Given the description of an element on the screen output the (x, y) to click on. 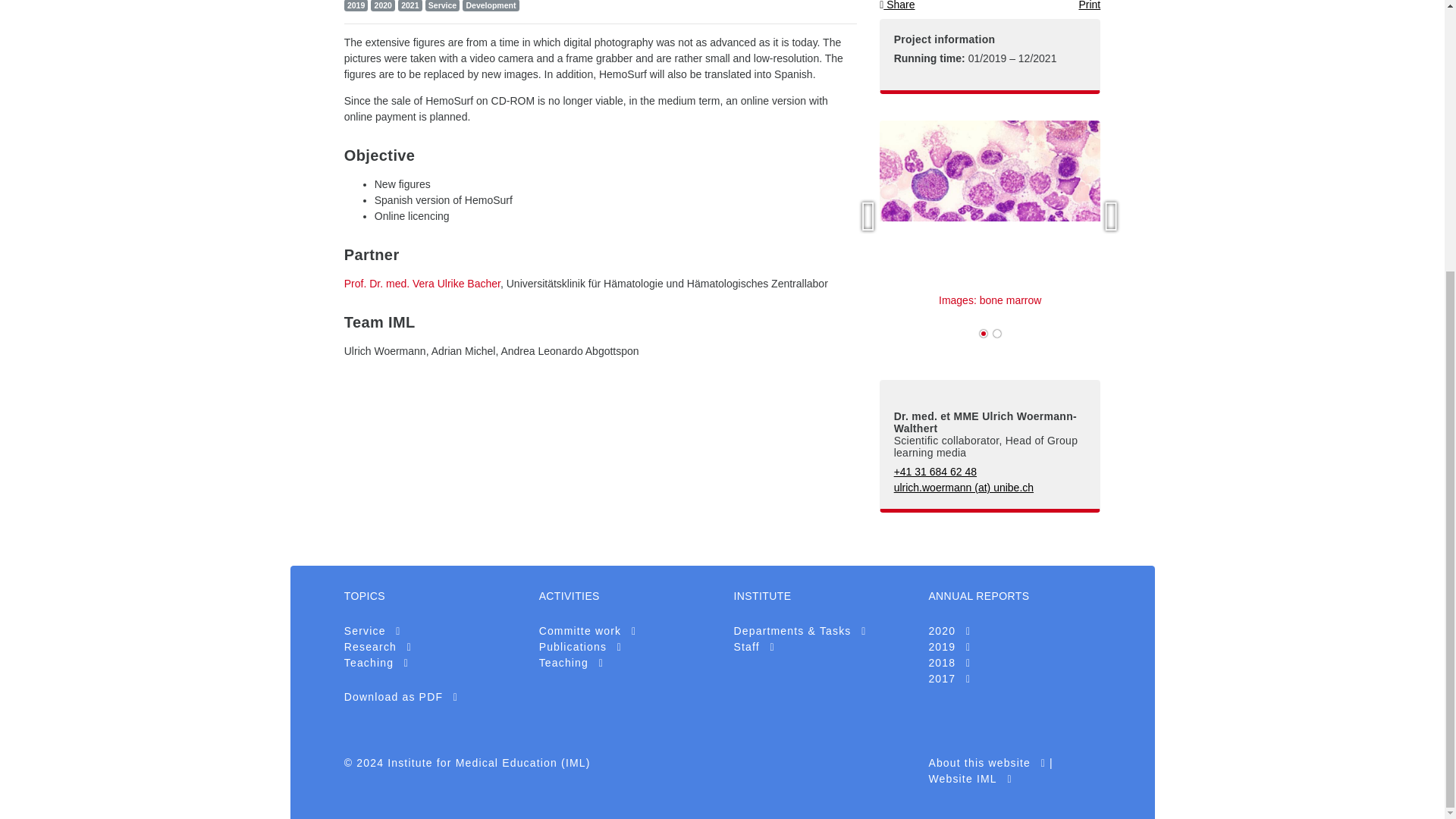
Website Institute for Medical Education (969, 778)
Share (896, 5)
Prof. Dr. med. Vera Ulrike Bacher (421, 283)
Publications 2018 (580, 646)
About this website (986, 762)
Teaching (376, 662)
Academic Teaching (571, 662)
Committe work (587, 630)
Staff (753, 646)
Service (372, 630)
Print (1089, 5)
Service (372, 630)
Download all the articles together in one pdf file (400, 696)
Research (377, 646)
Core mission (799, 630)
